Given the description of an element on the screen output the (x, y) to click on. 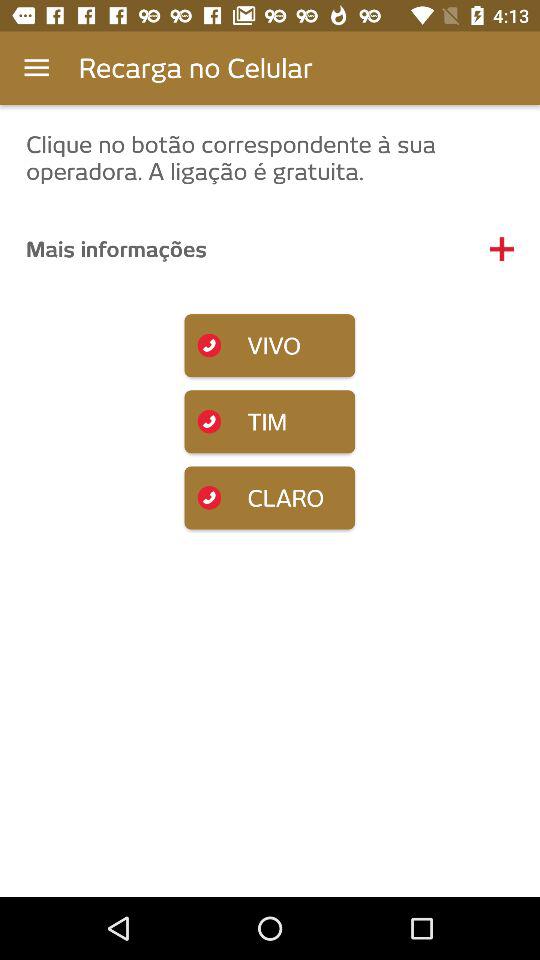
select item below vivo item (269, 421)
